Given the description of an element on the screen output the (x, y) to click on. 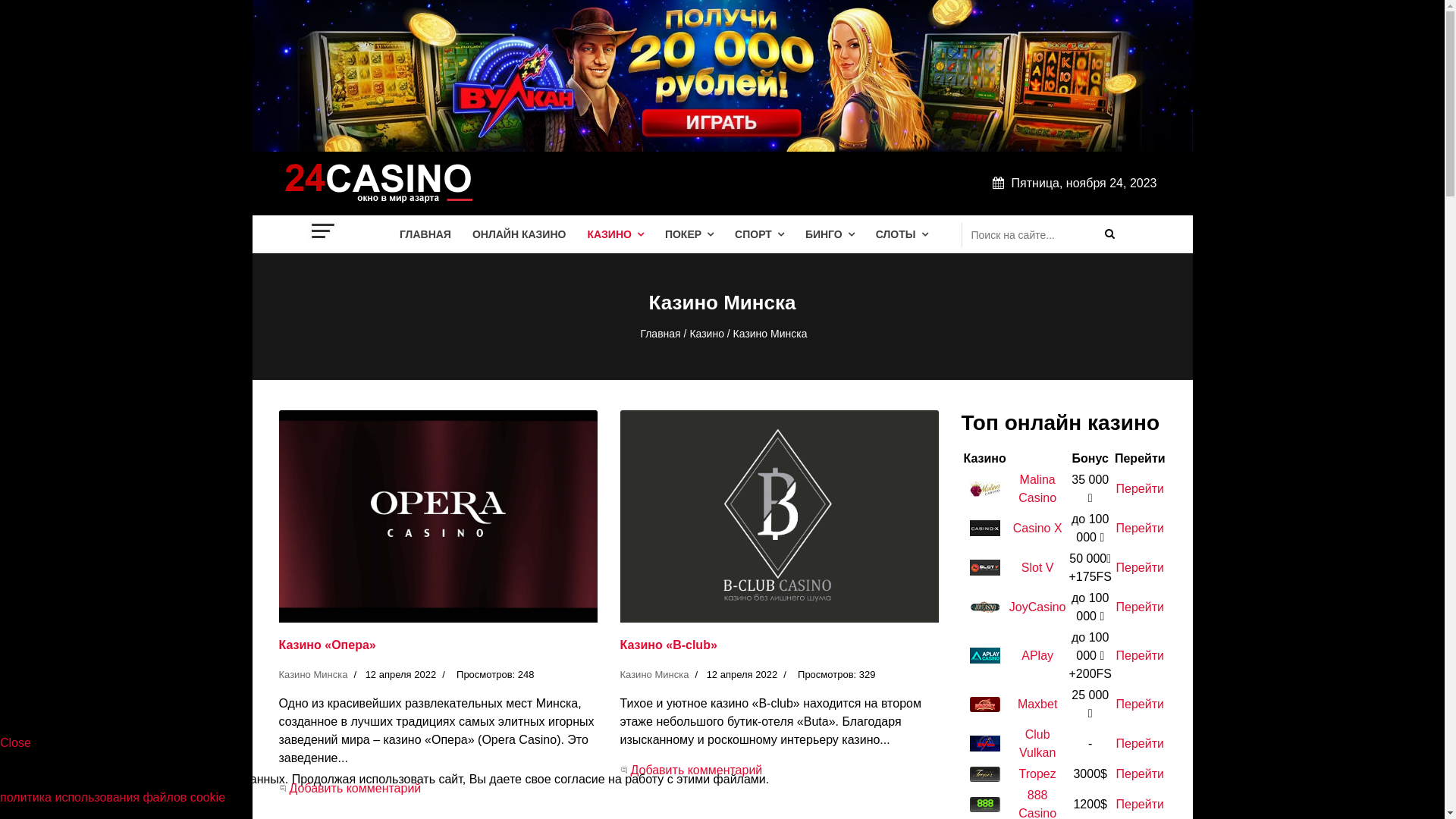
Casino X Element type: text (1037, 527)
Close Element type: text (15, 742)
Maxbet Element type: text (1037, 703)
Club Vulkan Element type: text (1037, 743)
Navigation Element type: hover (323, 230)
Malina Casino Element type: text (1037, 488)
JoyCasino Element type: text (1037, 606)
Tropez Element type: text (1037, 773)
APlay Element type: text (1037, 655)
Slot V Element type: text (1037, 567)
